Given the description of an element on the screen output the (x, y) to click on. 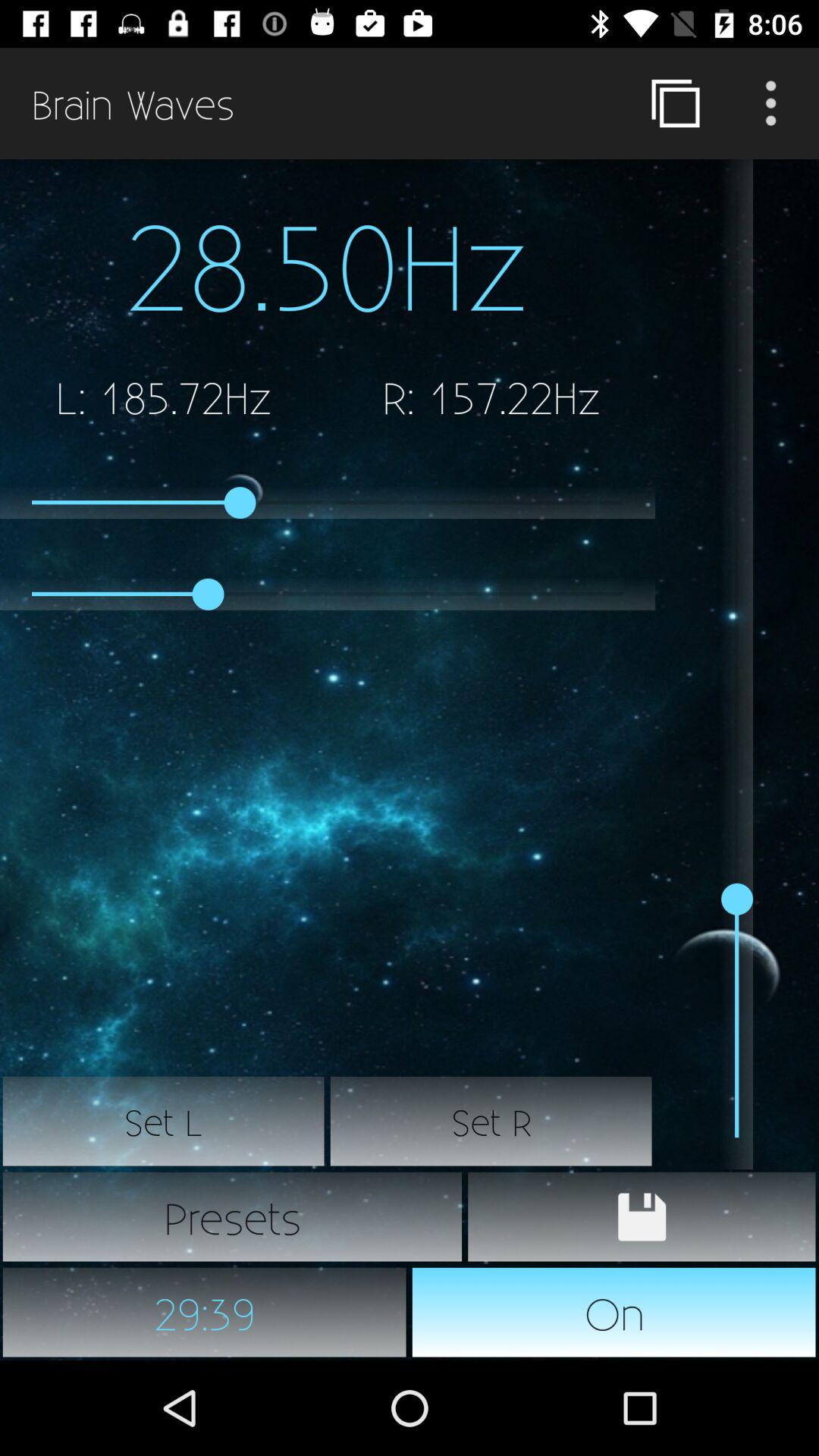
launch the item to the right of the 29:39 item (614, 1312)
